Given the description of an element on the screen output the (x, y) to click on. 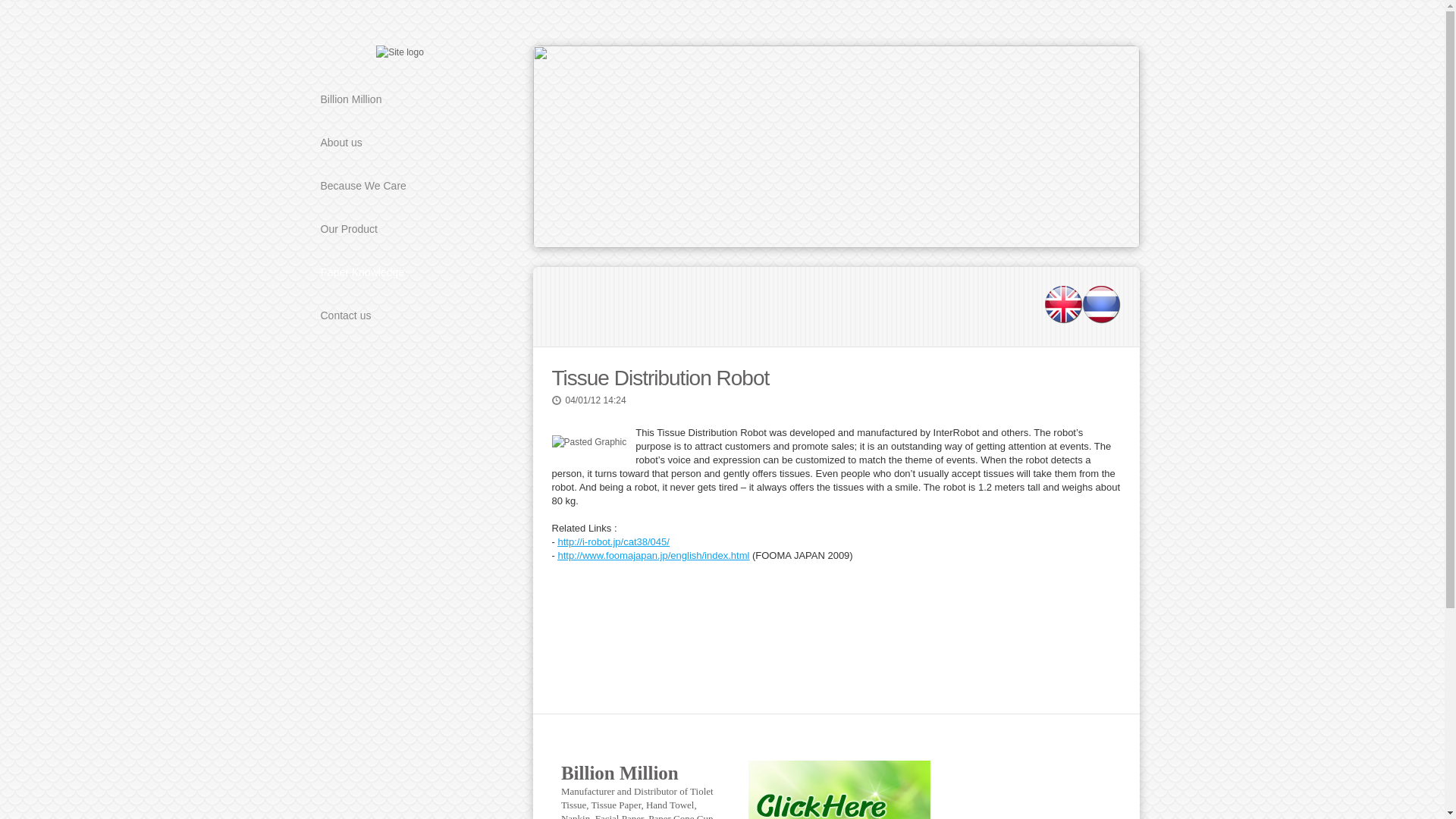
Our Product (398, 229)
About us (398, 142)
Billion Million (398, 99)
Because We Care (398, 186)
Contact us (398, 315)
Paper Knowledge (398, 272)
